Given the description of an element on the screen output the (x, y) to click on. 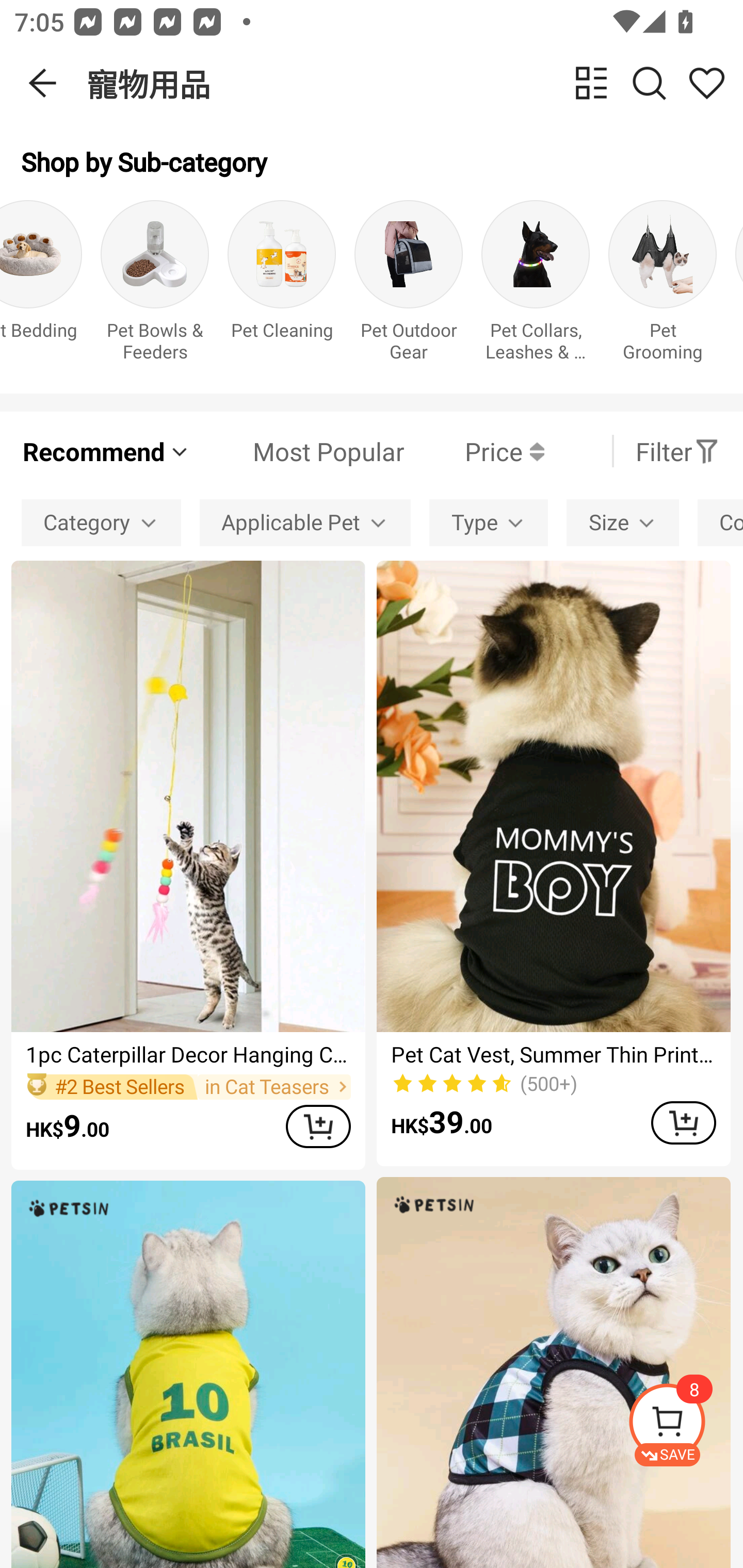
寵物用品 change view Search Share (414, 82)
change view (591, 82)
Search (648, 82)
Share (706, 82)
Pet Bedding (40, 285)
Pet Bowls & Feeders (154, 285)
Pet Cleaning (281, 285)
Pet Outdoor Gear (408, 285)
Pet Collars, Leashes & Harnesses (535, 285)
Pet Grooming (662, 285)
Recommend (106, 450)
Most Popular (297, 450)
Price (474, 450)
Filter (677, 450)
Category (101, 521)
Applicable Pet (304, 521)
Type (488, 521)
Size (622, 521)
#2 Best Sellers in Cat Teasers (188, 1086)
ADD TO CART (683, 1122)
ADD TO CART (318, 1126)
PETSIN 1pc Plaid Pattern Pet Tank (553, 1372)
PETSIN Letter Graphic Pet Tank (188, 1374)
SAVE (685, 1424)
